Given the description of an element on the screen output the (x, y) to click on. 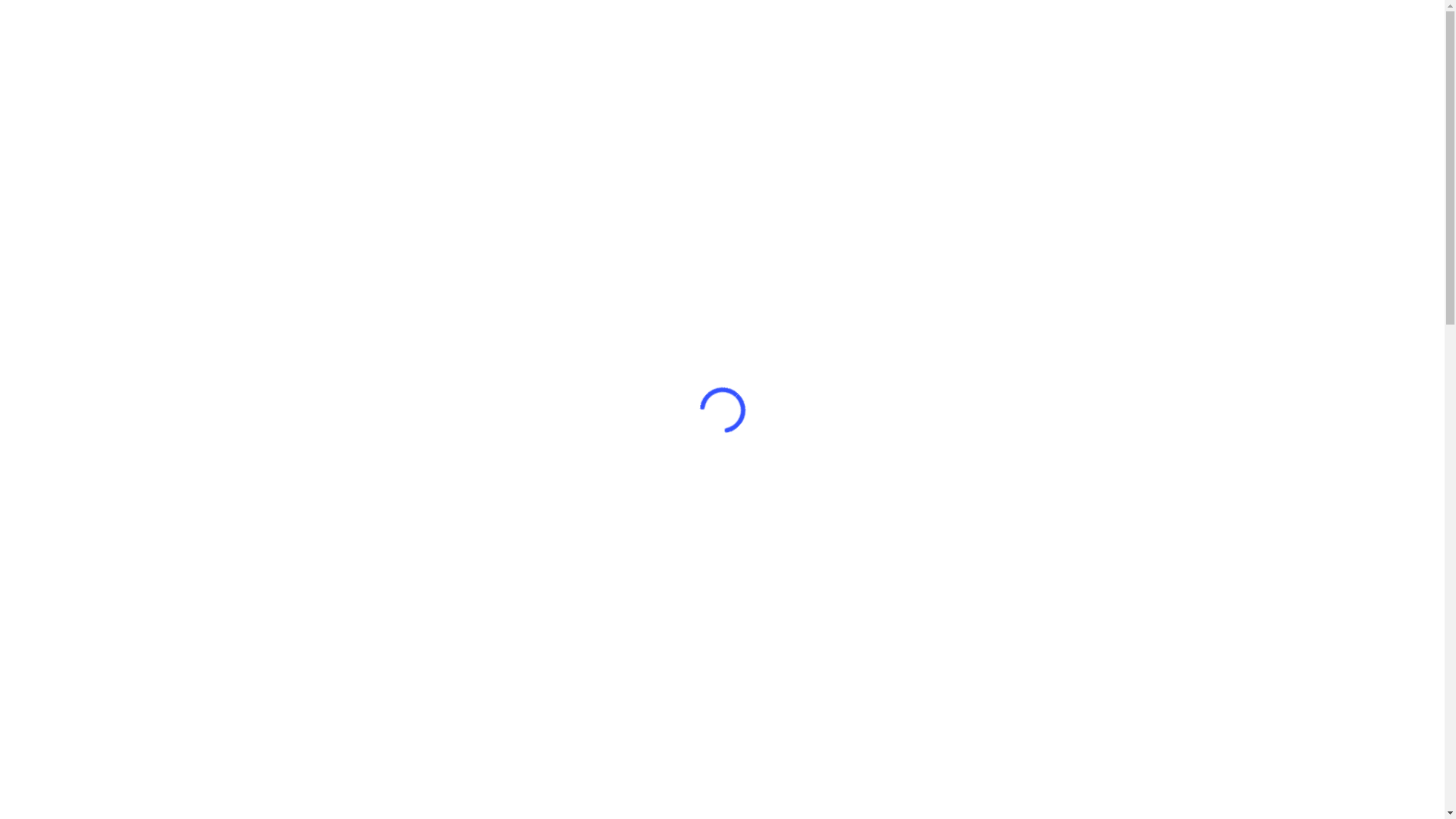
LEARN MORE Element type: text (601, 661)
HOME Element type: text (606, 58)
LEARN MORE Element type: text (842, 661)
ABOUT US Element type: text (945, 58)
OUR SERVICES Element type: text (669, 58)
LEARN MORE Element type: text (1082, 661)
LEARN MORE Element type: text (360, 661)
PREVIOUS PROJECTS Element type: text (765, 58)
GET A QUOTE NOW Element type: text (1044, 58)
CLIENT REVIEWS Element type: text (867, 58)
